Given the description of an element on the screen output the (x, y) to click on. 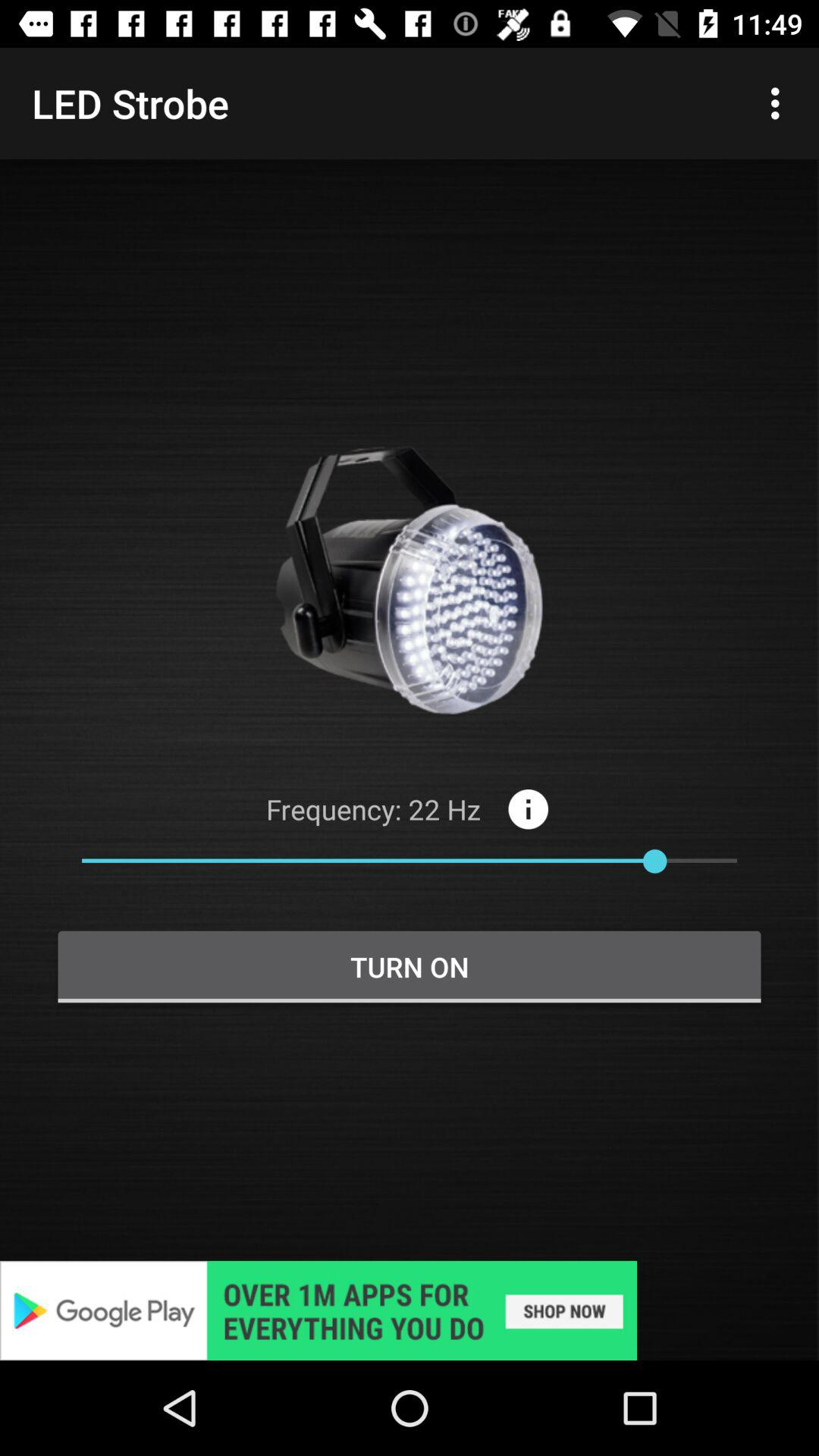
link to advertisement (409, 1310)
